Given the description of an element on the screen output the (x, y) to click on. 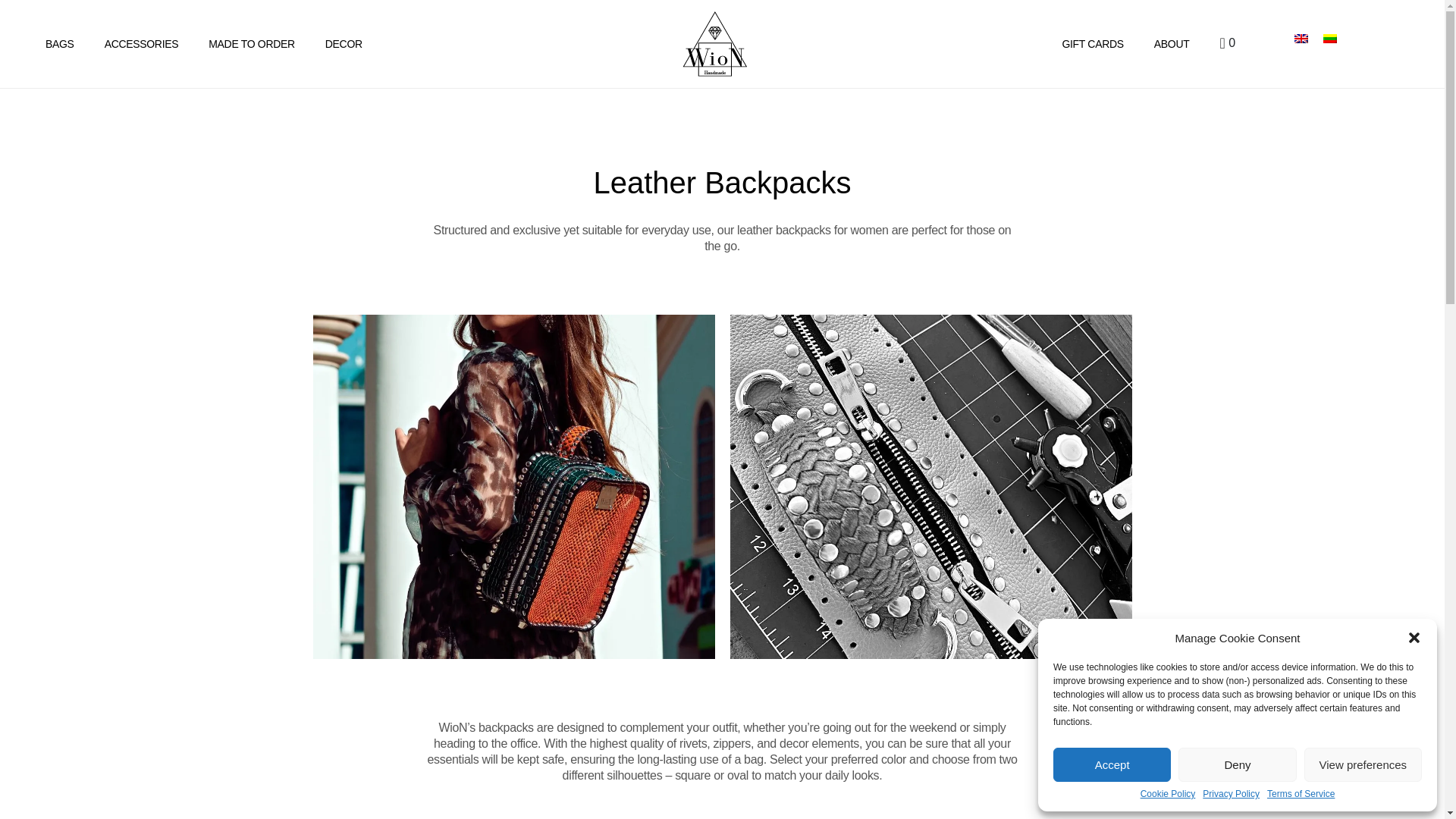
MADE TO ORDER (251, 43)
View preferences (1363, 764)
Cookie Policy (1167, 794)
GIFT CARDS (1092, 43)
DECOR (343, 43)
ACCESSORIES (140, 43)
BAGS (59, 43)
Terms of Service (1300, 794)
Privacy Policy (1230, 794)
Deny (1236, 764)
Accept (1111, 764)
